Given the description of an element on the screen output the (x, y) to click on. 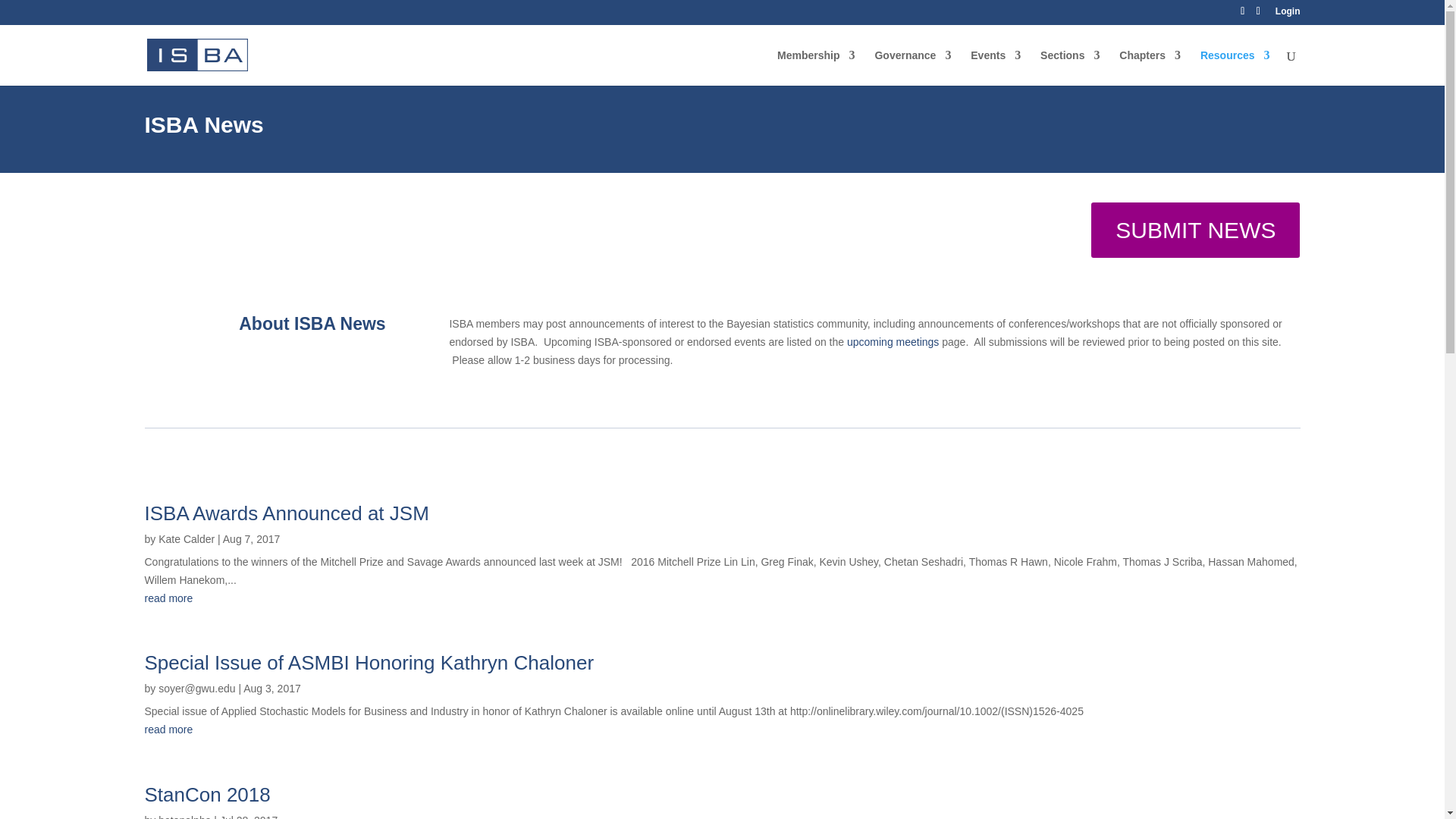
Resources (1234, 67)
Governance (912, 67)
Events (995, 67)
Membership (815, 67)
Sections (1070, 67)
Posts by Kate Calder (186, 539)
Posts by betanalpha (184, 816)
Chapters (1149, 67)
Login (1287, 14)
